Given the description of an element on the screen output the (x, y) to click on. 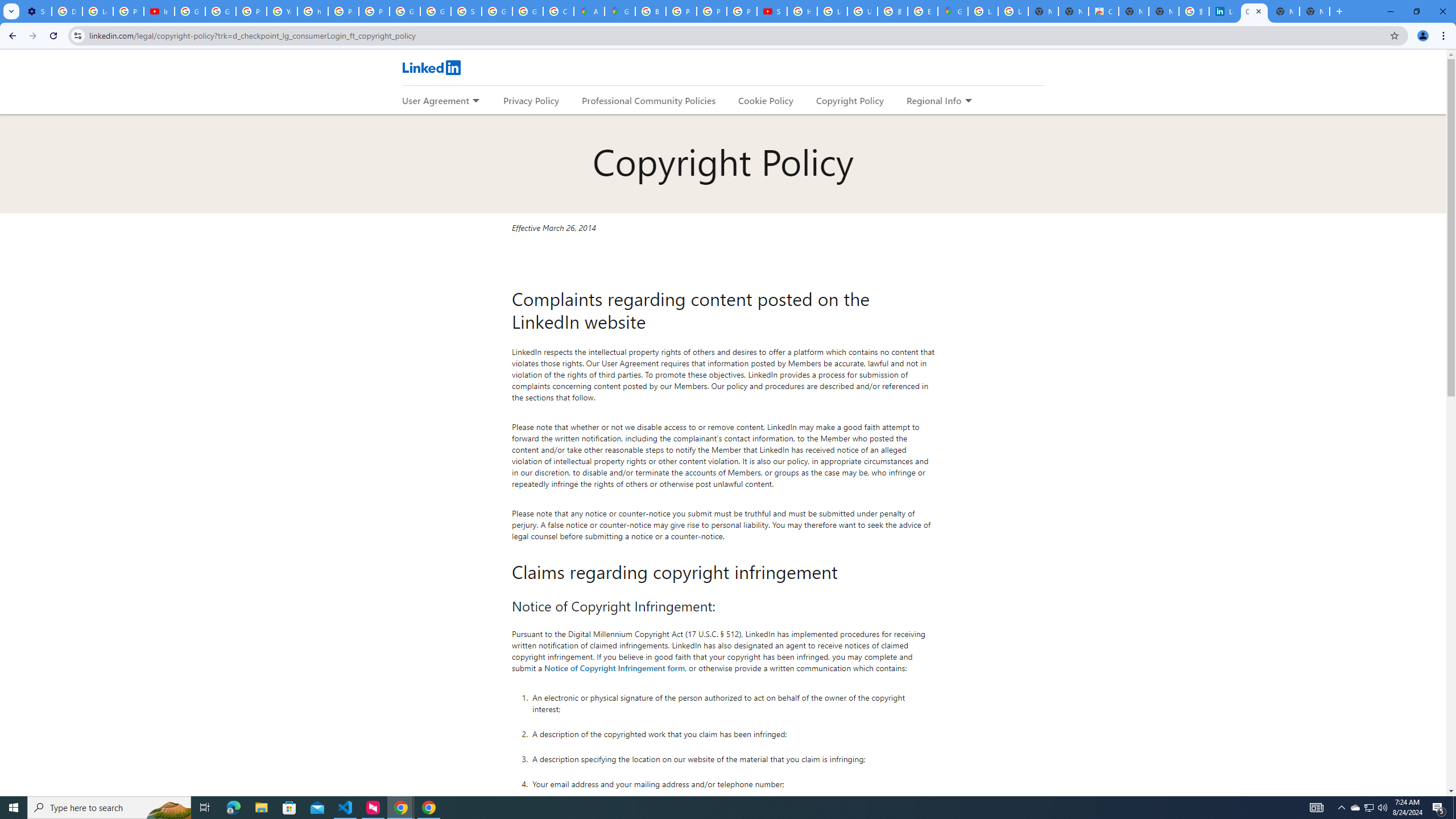
Privacy Help Center - Policies Help (343, 11)
Google Maps (619, 11)
Regional Info (933, 100)
LinkedIn Logo (430, 67)
Blogger Policies and Guidelines - Transparency Center (650, 11)
Professional Community Policies (649, 100)
Privacy Help Center - Policies Help (251, 11)
Explore new street-level details - Google Maps Help (922, 11)
